Given the description of an element on the screen output the (x, y) to click on. 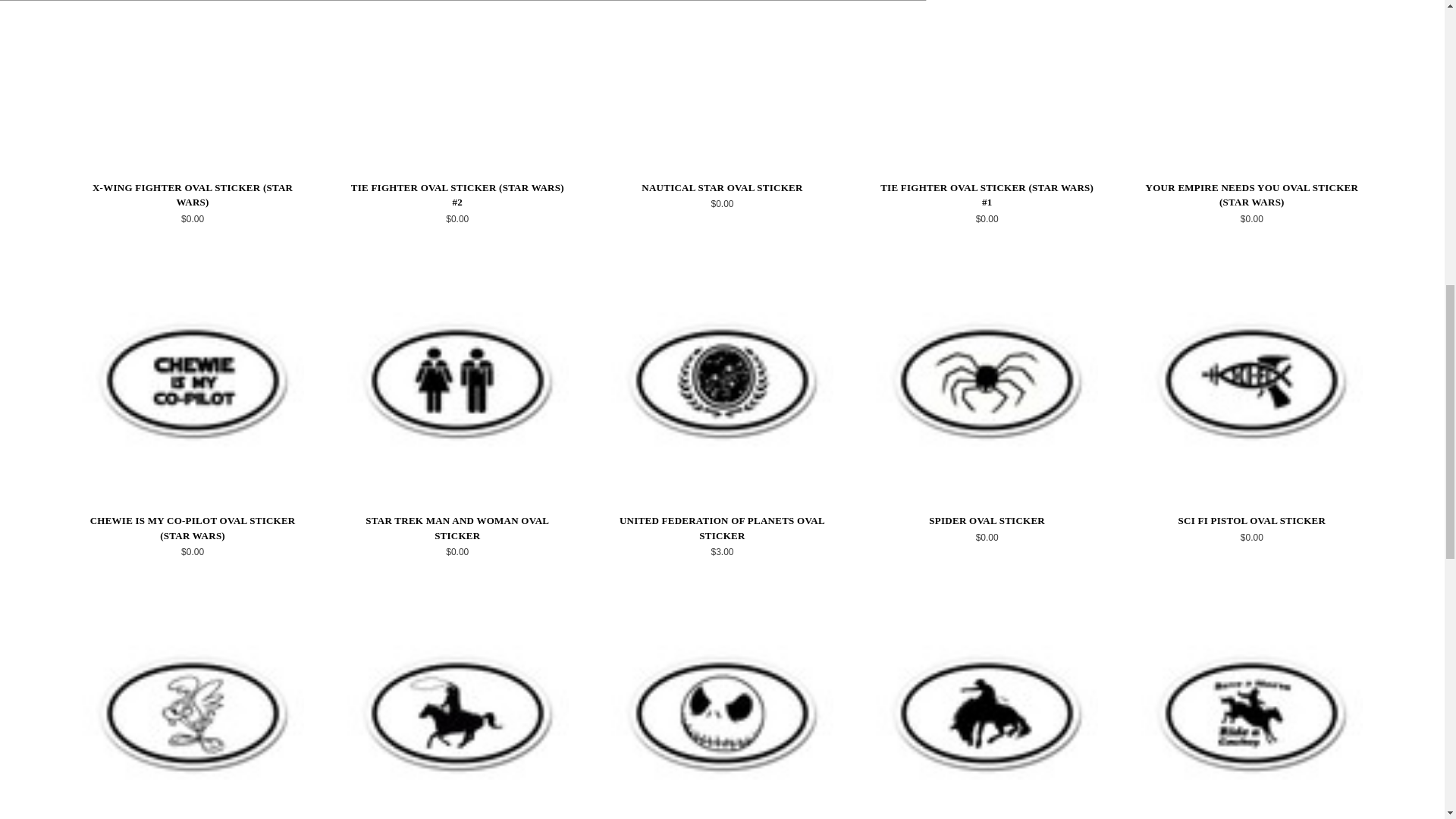
Cowboy Riding Horse And Throwing Rope Oval Sticker (457, 710)
United Federation Of Planets Oval Sticker (721, 379)
Roadrunner Baby Oval Sticker (192, 710)
Jack Skellington Oval Sticker (721, 710)
Save A Horse Ride A Cowboy Oval Sticker (1251, 710)
Sci Fi Pistol Oval Sticker (1251, 379)
Cowboy Riding a Bronco Oval Sticker (986, 710)
Star Trek Man And Woman Oval Sticker (457, 379)
Nautical Star Oval Sticker (721, 79)
Chewie Is My Co-Pilot Oval Sticker (192, 379)
